Given the description of an element on the screen output the (x, y) to click on. 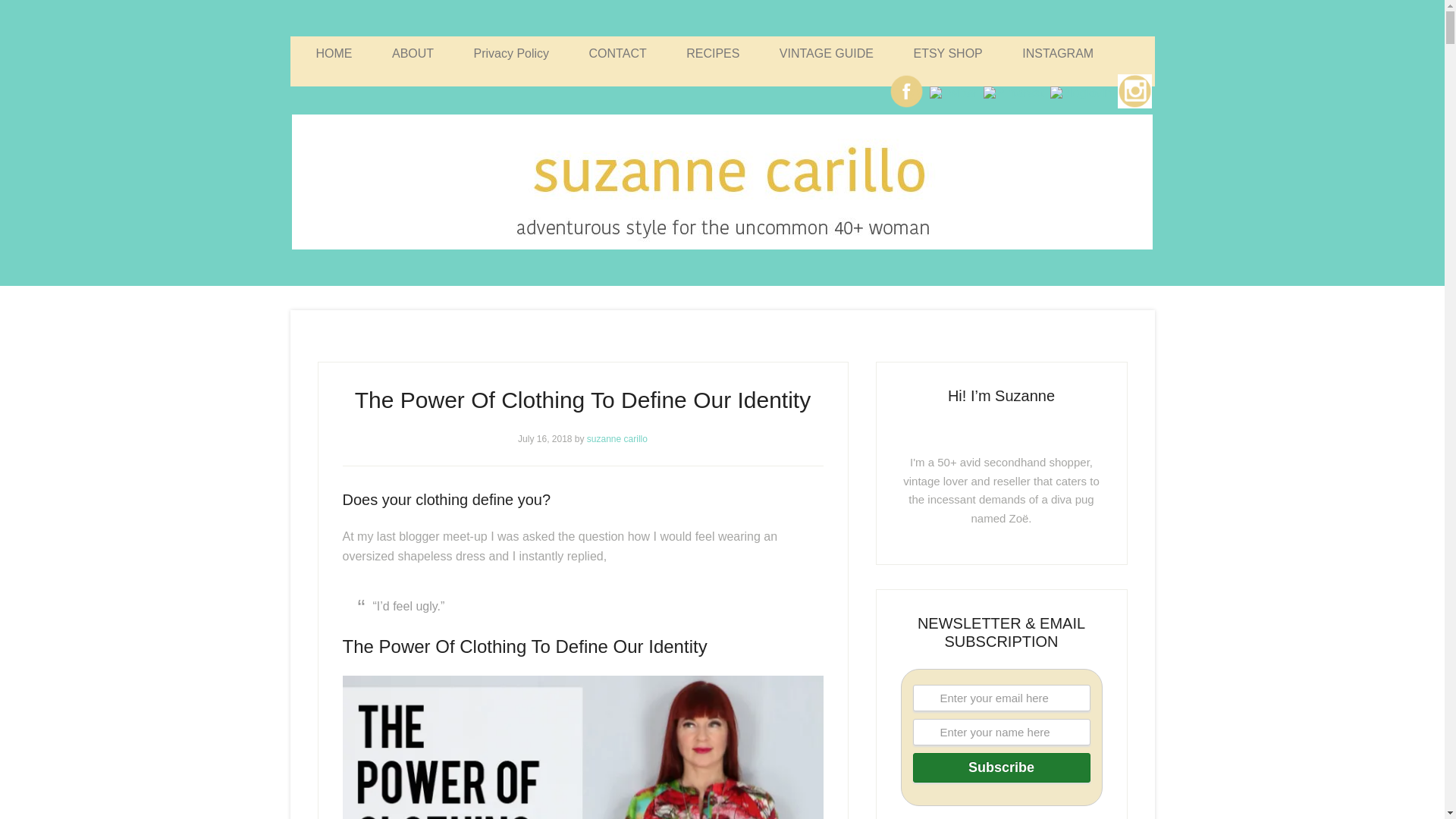
Fun Fast Simple Healthy Recipes (712, 53)
Bloglovin (1080, 92)
Bloglovin (1080, 92)
CONTACT (617, 53)
ABOUT (412, 53)
Facebook (906, 91)
Suzanne Carillo (721, 181)
VINTAGE GUIDE (826, 53)
Enter your email here (1001, 697)
RECIPES (712, 53)
The Power Of Clothing To Define Our Identity (582, 399)
Enter your name here (1001, 732)
Subscribe (1001, 767)
Pinterest (1013, 92)
suzanne carillo (616, 439)
